Given the description of an element on the screen output the (x, y) to click on. 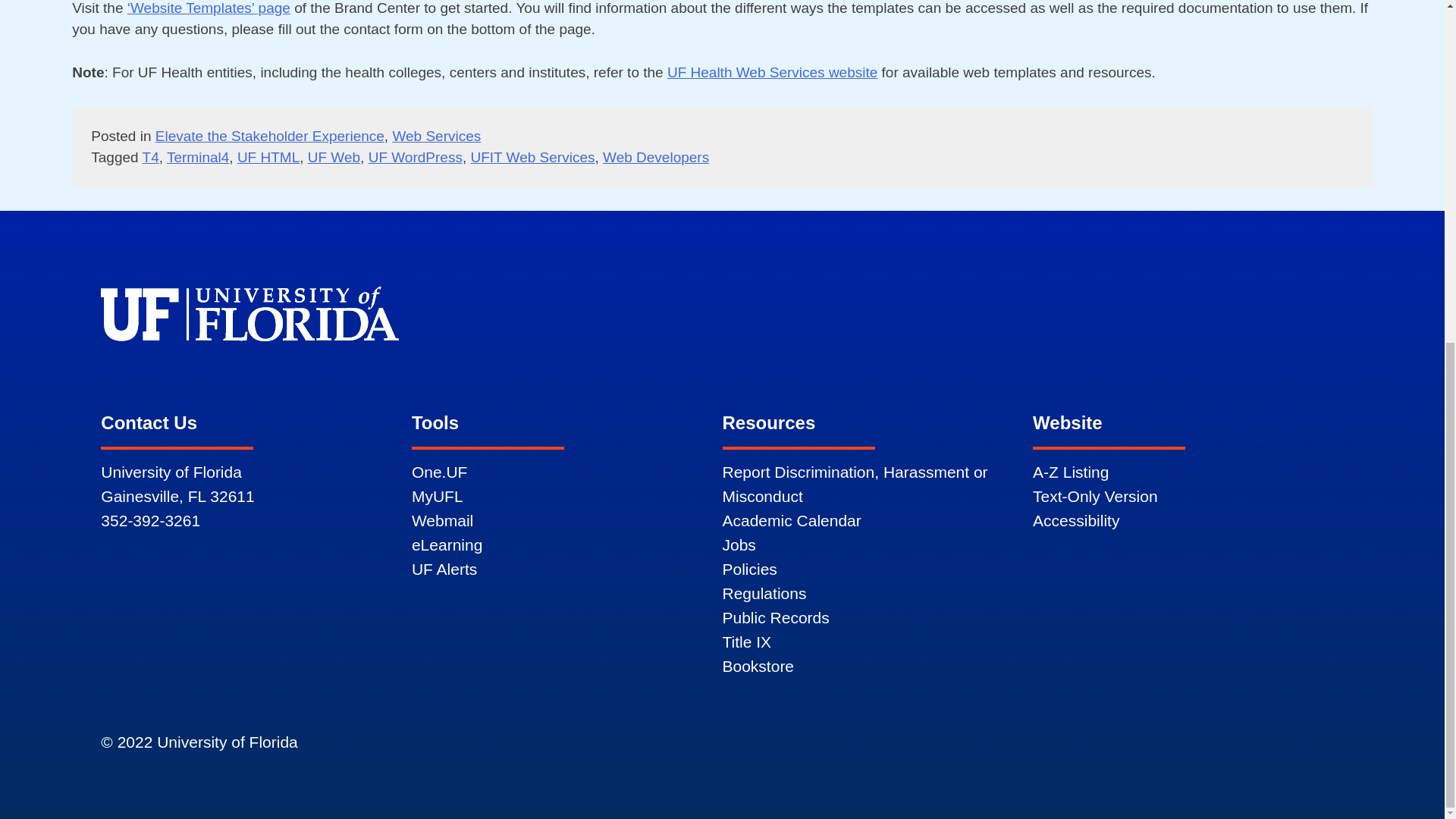
Title IX (746, 641)
Public Records (775, 617)
UFIT Web Services (532, 157)
Webmail (442, 520)
Elevate the Stakeholder Experience (269, 135)
T4 (150, 157)
UF Health Web Services website (771, 72)
UF HTML (268, 157)
Academic Calendar (791, 520)
UF Alerts (444, 569)
Jobs (738, 544)
Regulations (764, 592)
Bookstore (757, 665)
UF WordPress (415, 157)
Terminal4 (197, 157)
